Given the description of an element on the screen output the (x, y) to click on. 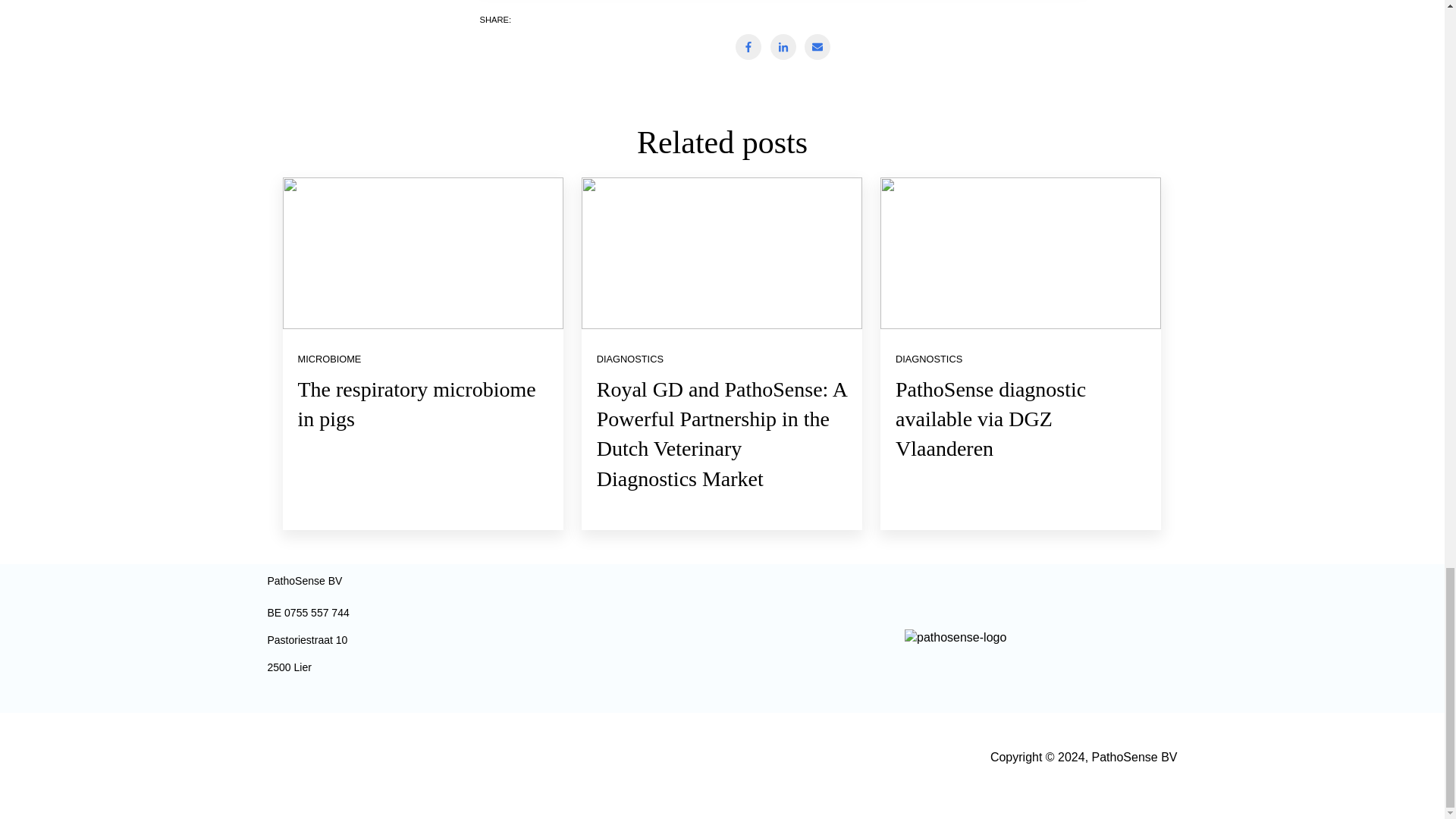
MICROBIOME (329, 358)
DIAGNOSTICS (928, 358)
The respiratory microbiome in pigs (416, 403)
DIAGNOSTICS (629, 358)
PathoSense diagnostic available via DGZ Vlaanderen (990, 418)
pathosense-logo (955, 637)
